Given the description of an element on the screen output the (x, y) to click on. 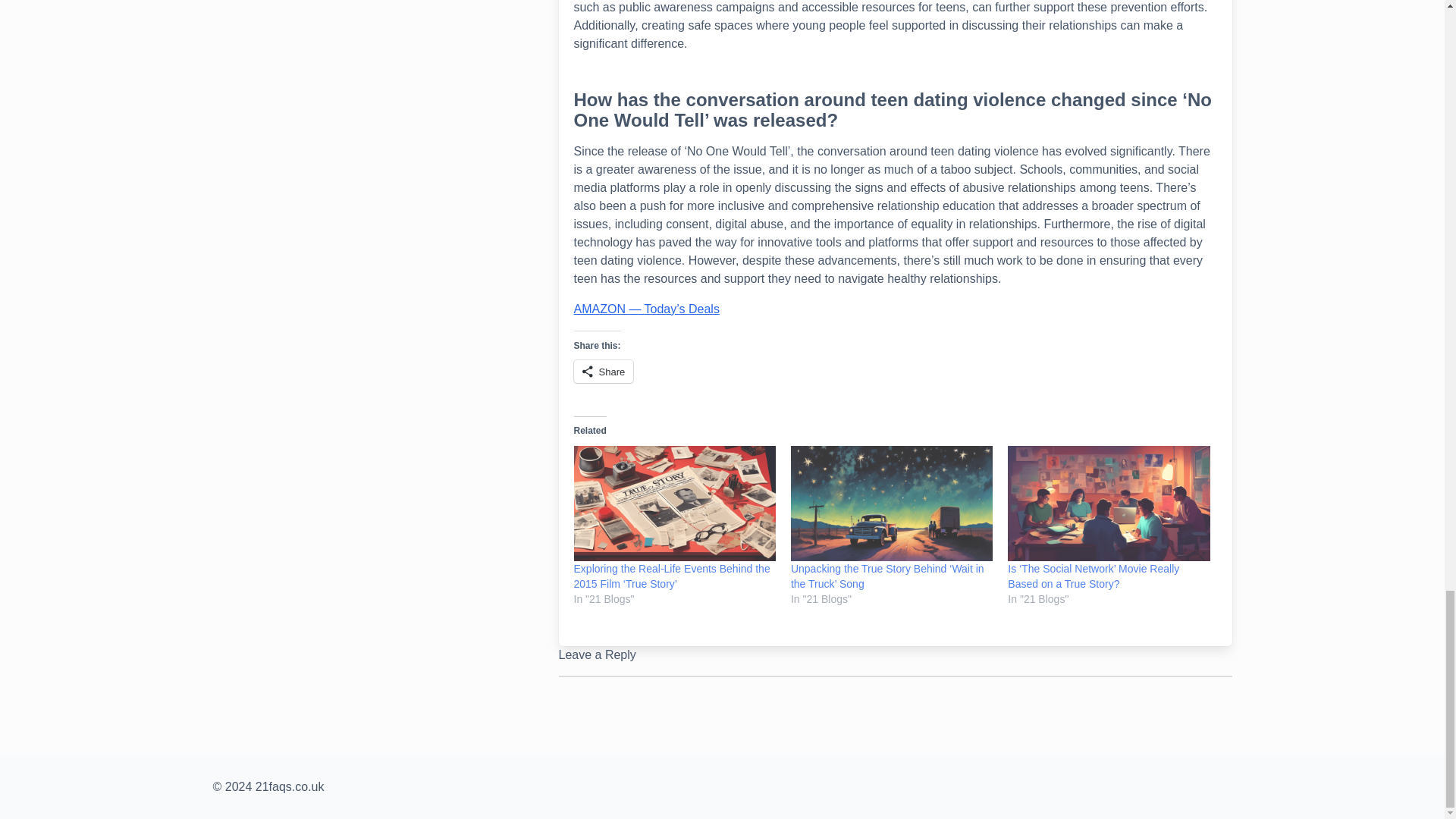
Share (603, 371)
